Given the description of an element on the screen output the (x, y) to click on. 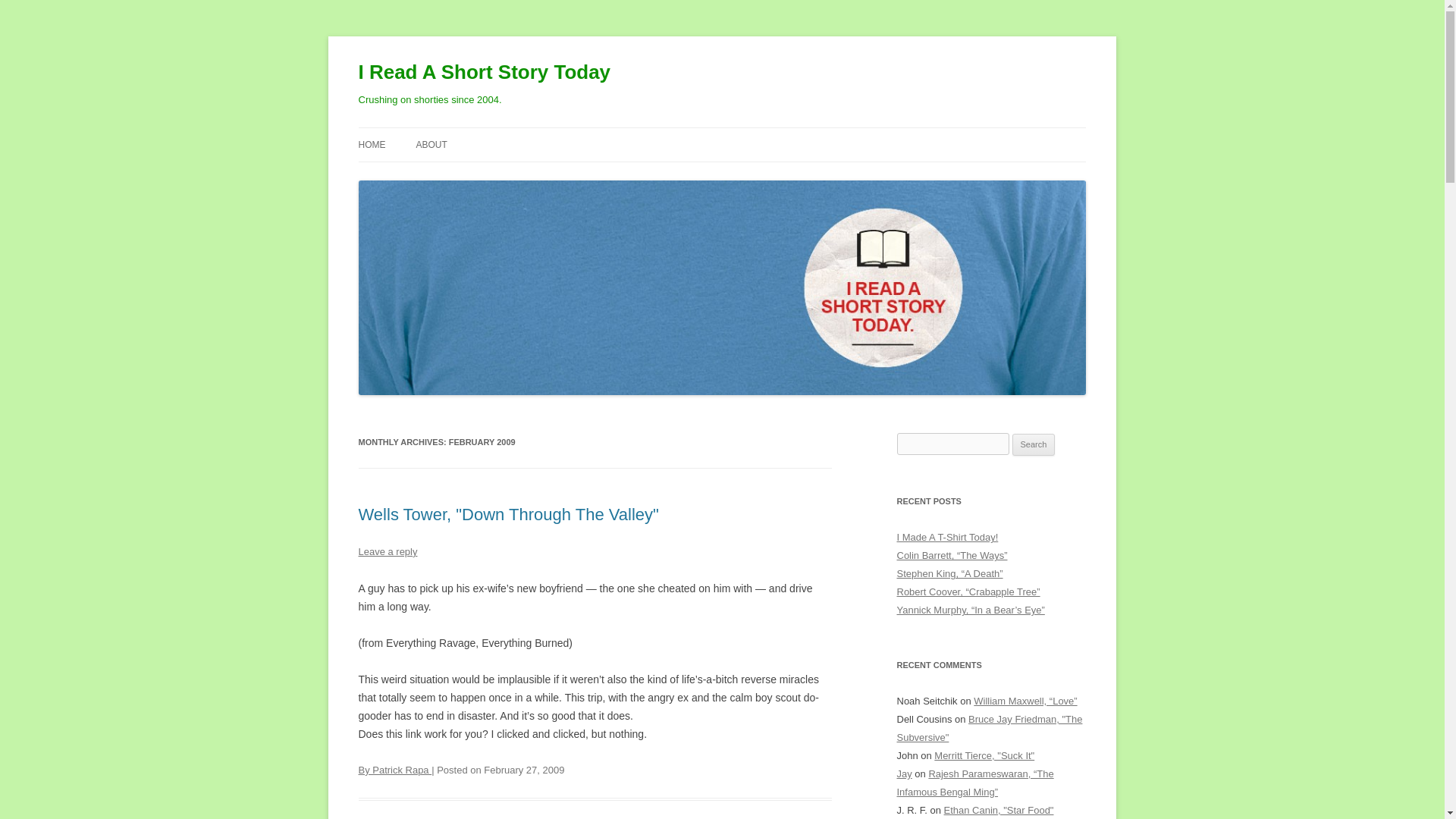
Home (371, 144)
Comment on Wells Tower, "Down Through The Valley" (387, 551)
HOME (371, 144)
By Patrick Rapa (394, 769)
Skip to content (757, 132)
Leave a reply (387, 551)
ABOUT (430, 144)
I Read A Short Story Today (484, 72)
Permalink to Wells Tower, "Down Through The Valley" (508, 514)
I Read A Short Story Today (484, 72)
Search (1033, 445)
Skip to content (757, 132)
Wells Tower, "Down Through The Valley" (508, 514)
